Given the description of an element on the screen output the (x, y) to click on. 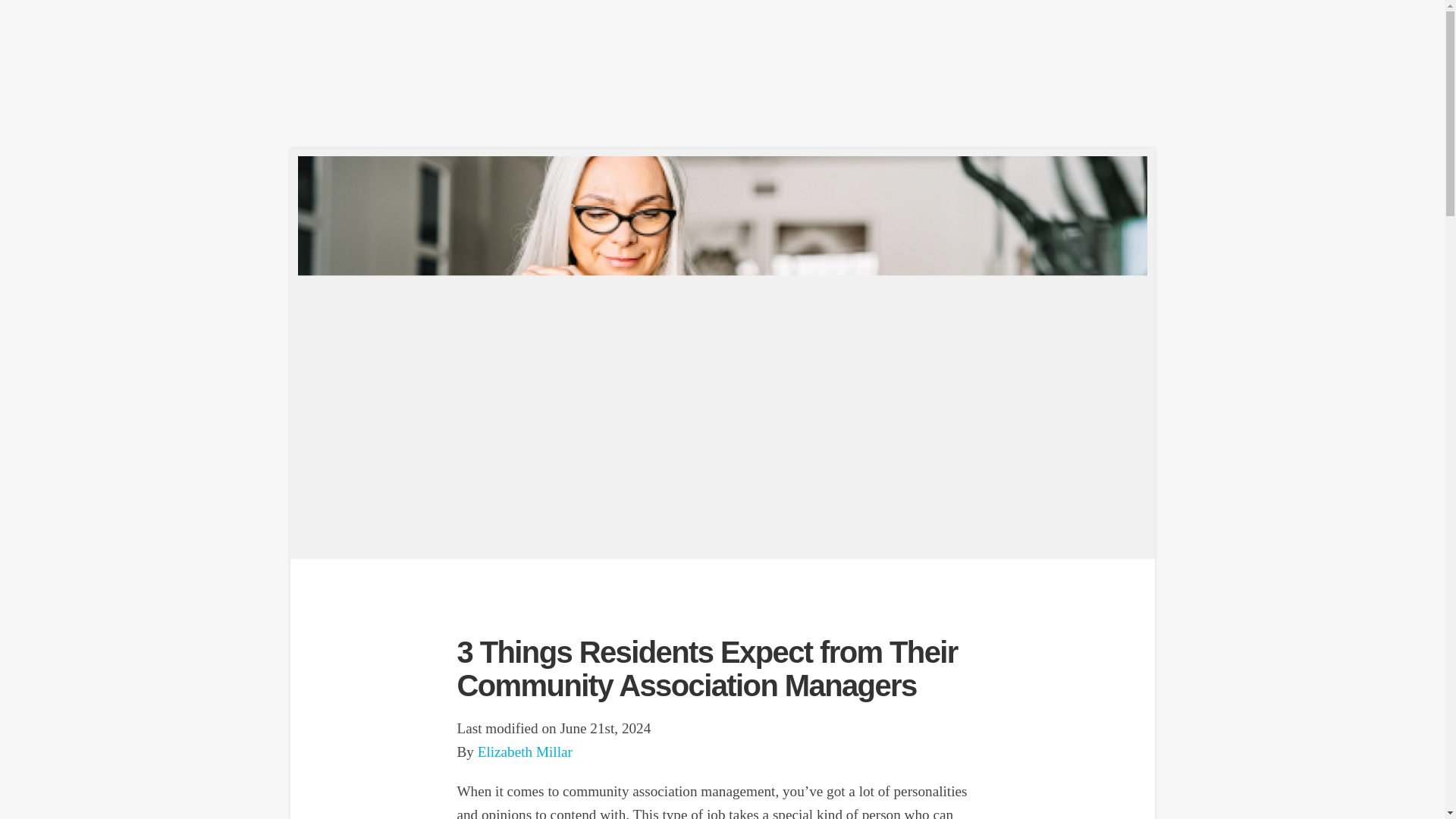
Elizabeth Millar (524, 751)
Posts by Elizabeth Millar (524, 751)
